Given the description of an element on the screen output the (x, y) to click on. 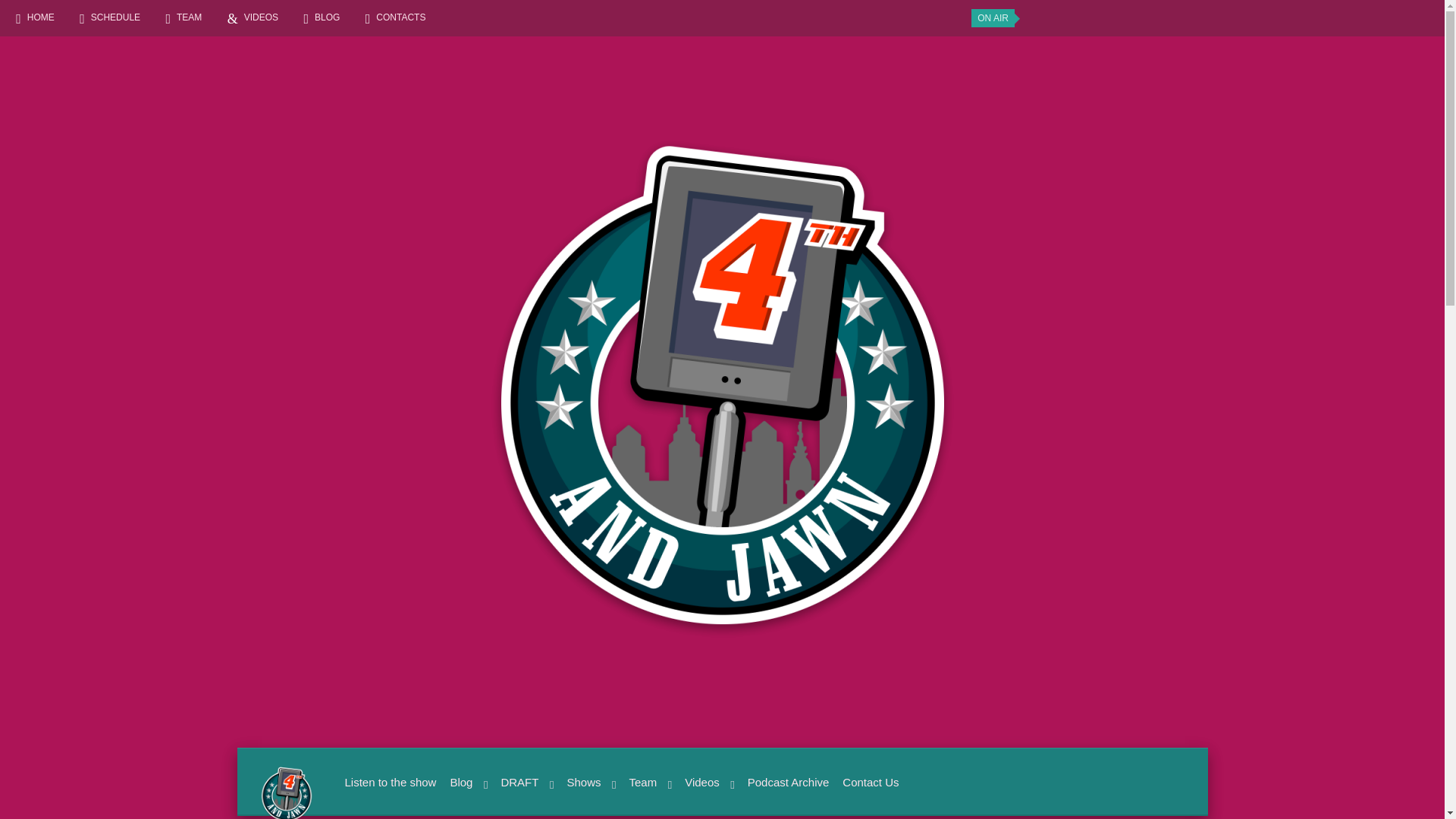
SCHEDULE (111, 17)
Videos (706, 782)
TEAM (186, 17)
DRAFT (524, 782)
HOME (38, 17)
VIDEOS (258, 17)
CONTACTS (397, 17)
BLOG (323, 17)
Listen to the show (387, 782)
Contact Us (867, 782)
